Given the description of an element on the screen output the (x, y) to click on. 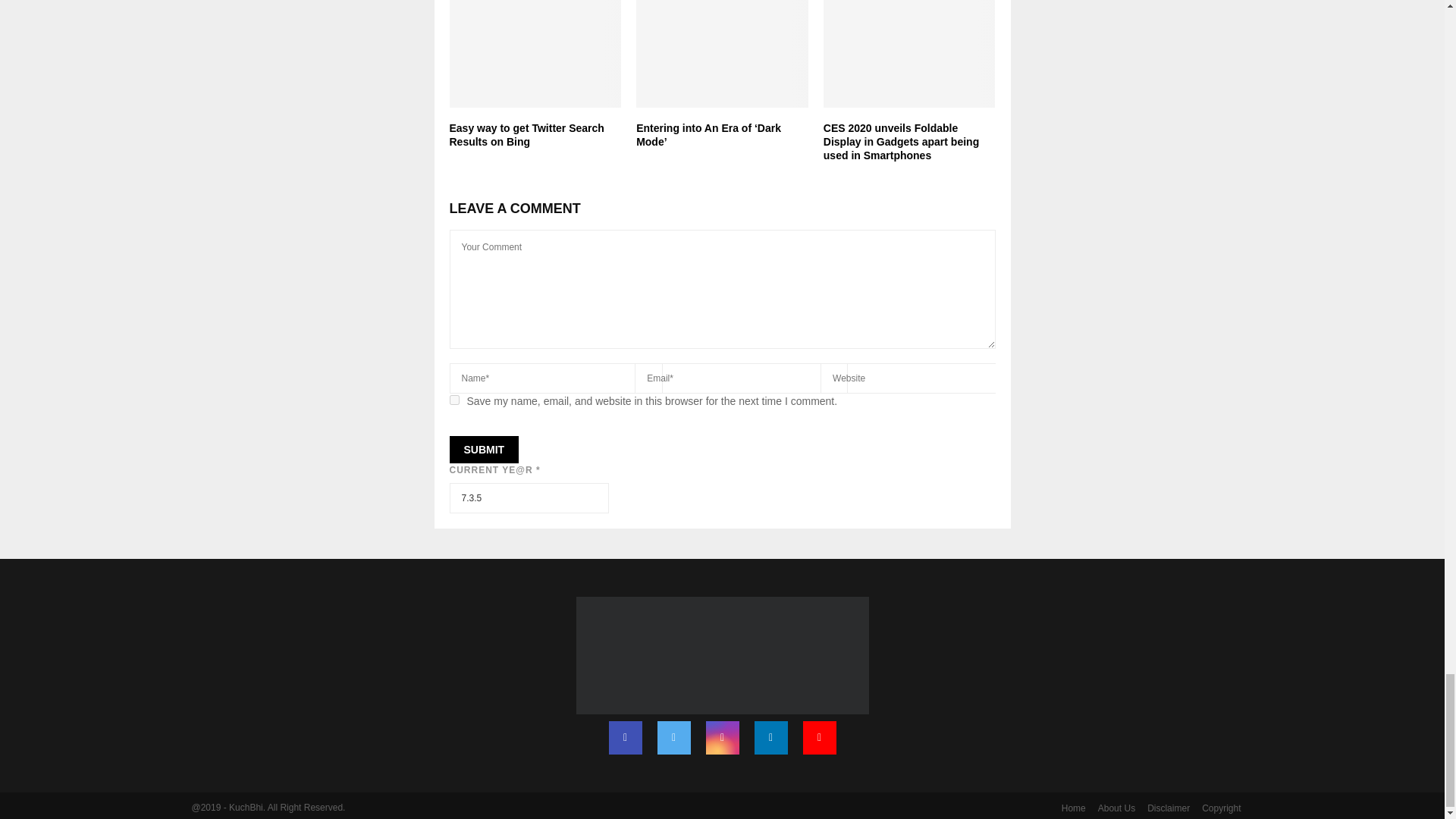
yes (453, 399)
Submit (483, 449)
7.3.5 (528, 498)
